Given the description of an element on the screen output the (x, y) to click on. 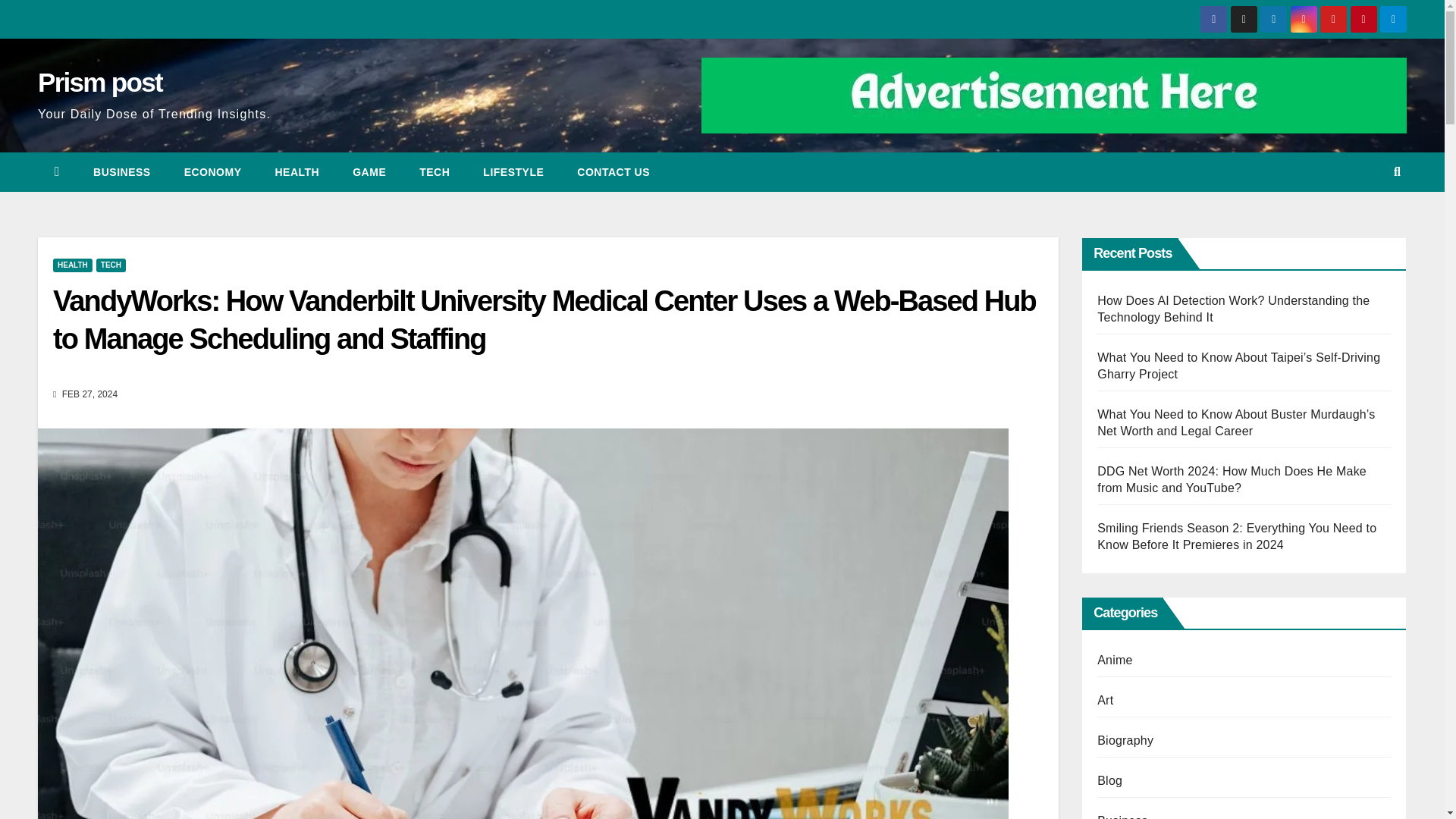
TECH (434, 171)
GAME (369, 171)
Prism post (99, 82)
TECH (110, 264)
HEALTH (72, 264)
Health (296, 171)
Contact Us (613, 171)
Tech (434, 171)
BUSINESS (122, 171)
Economy (213, 171)
LIFESTYLE (512, 171)
CONTACT US (613, 171)
HEALTH (296, 171)
Business (122, 171)
